Given the description of an element on the screen output the (x, y) to click on. 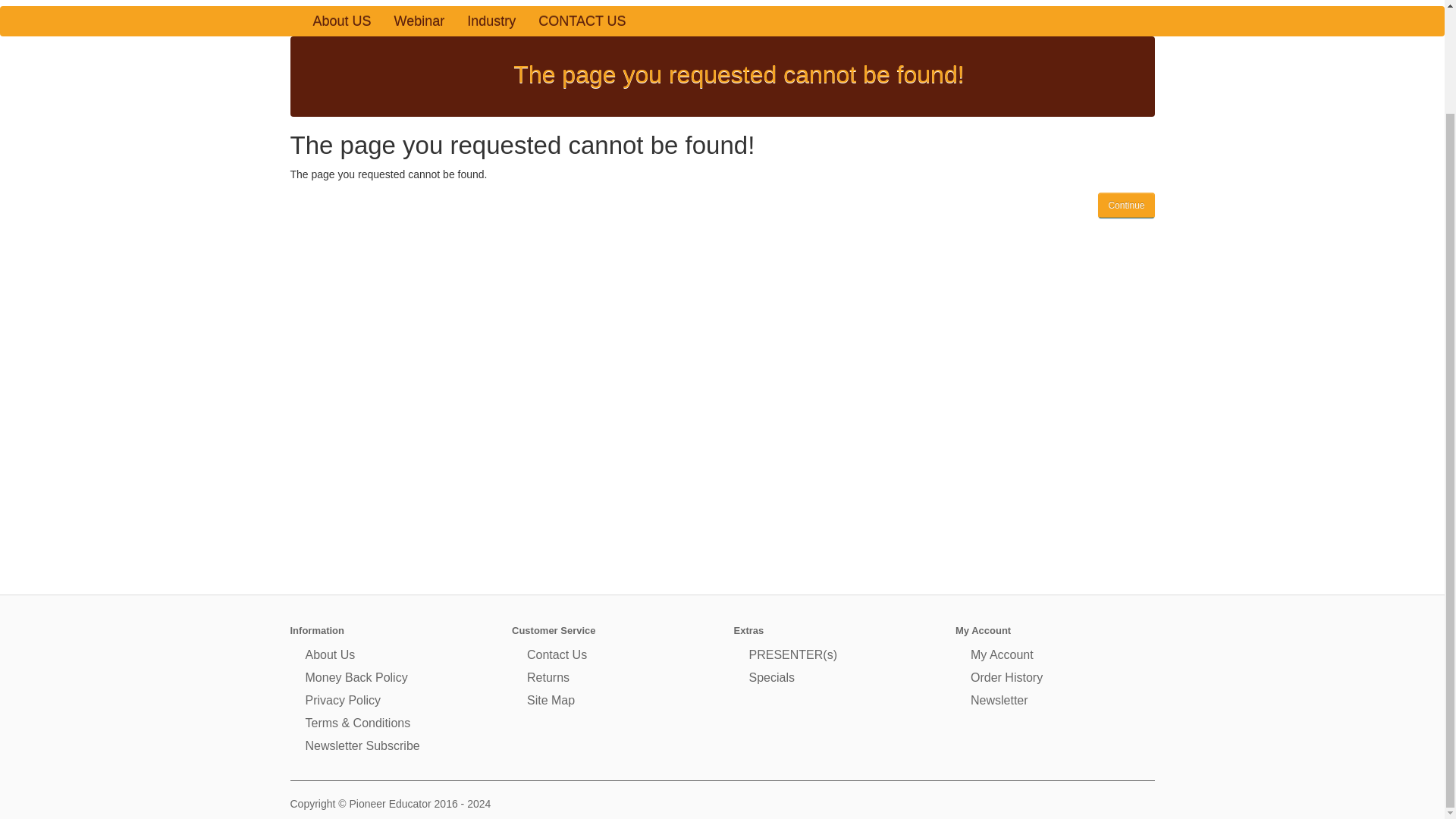
About US (341, 20)
Returns (548, 676)
Money Back Policy (355, 676)
Newsletter Subscribe (361, 745)
CONTACT US (582, 20)
Privacy Policy (342, 699)
Contact Us (556, 654)
About Us (329, 654)
Newsletter (999, 699)
Order History (1006, 676)
